Given the description of an element on the screen output the (x, y) to click on. 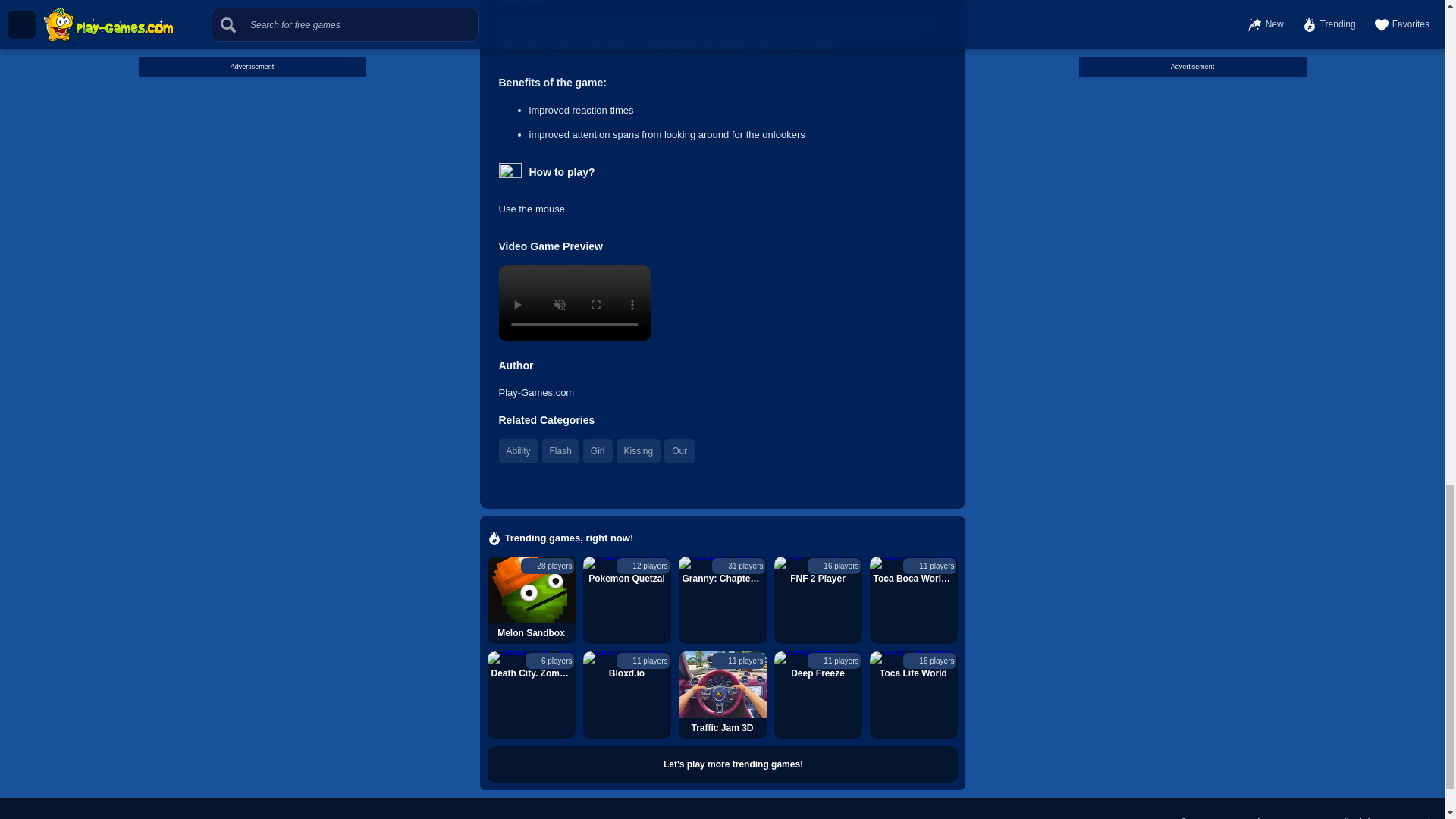
Trending Games (721, 764)
